Given the description of an element on the screen output the (x, y) to click on. 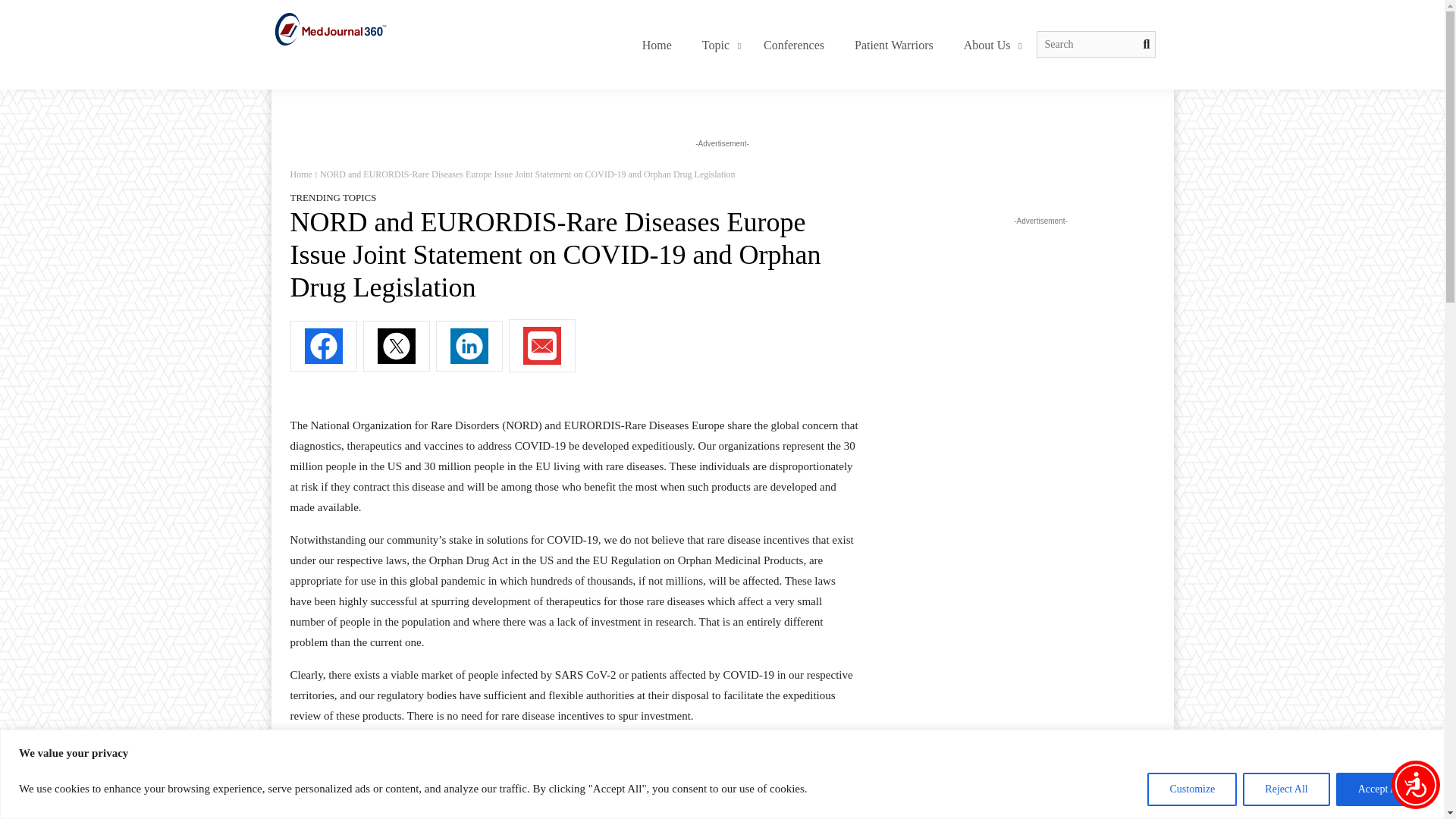
Accept All (1380, 788)
Home (657, 45)
Reject All (1286, 788)
Click to email link (541, 345)
Click to share on Linkedin (468, 346)
Accessibility Menu (1415, 784)
Click to share on Twitter (395, 346)
Click to share on Facebook  (322, 346)
Topic (717, 45)
Customize (828, 45)
